Given the description of an element on the screen output the (x, y) to click on. 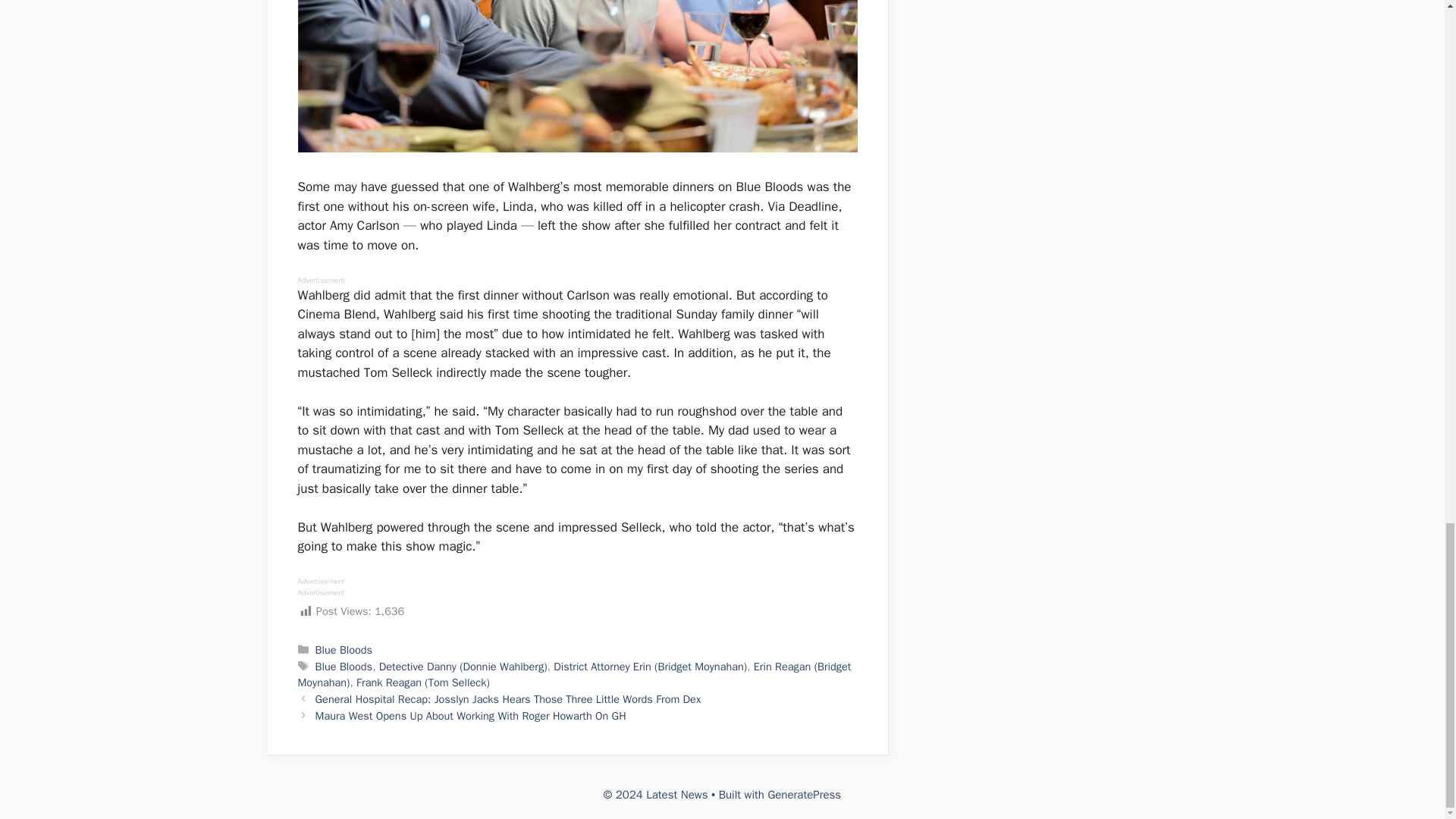
Blue Bloods (343, 666)
Blue Bloods (343, 649)
GeneratePress (804, 794)
Maura West Opens Up About Working With Roger Howarth On GH (470, 715)
